Given the description of an element on the screen output the (x, y) to click on. 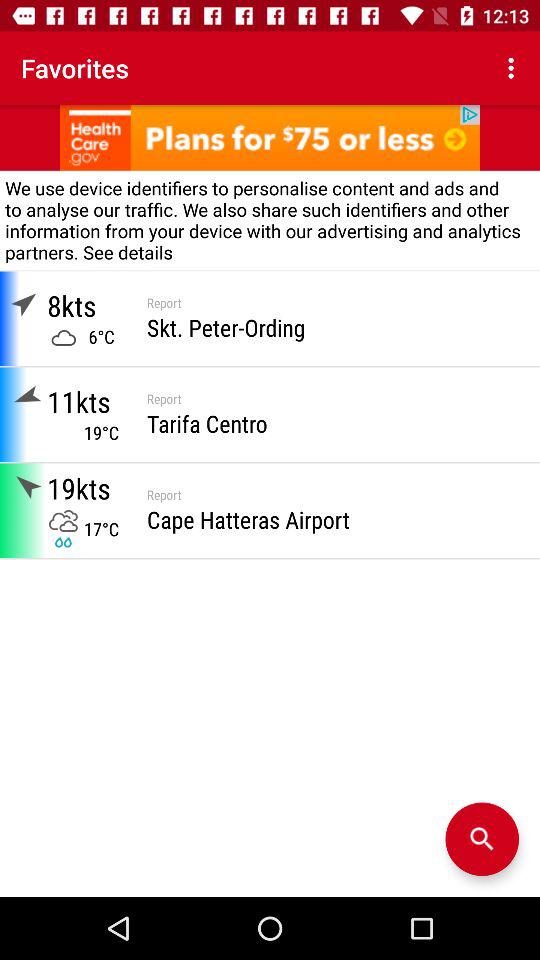
search on the app (482, 839)
